Given the description of an element on the screen output the (x, y) to click on. 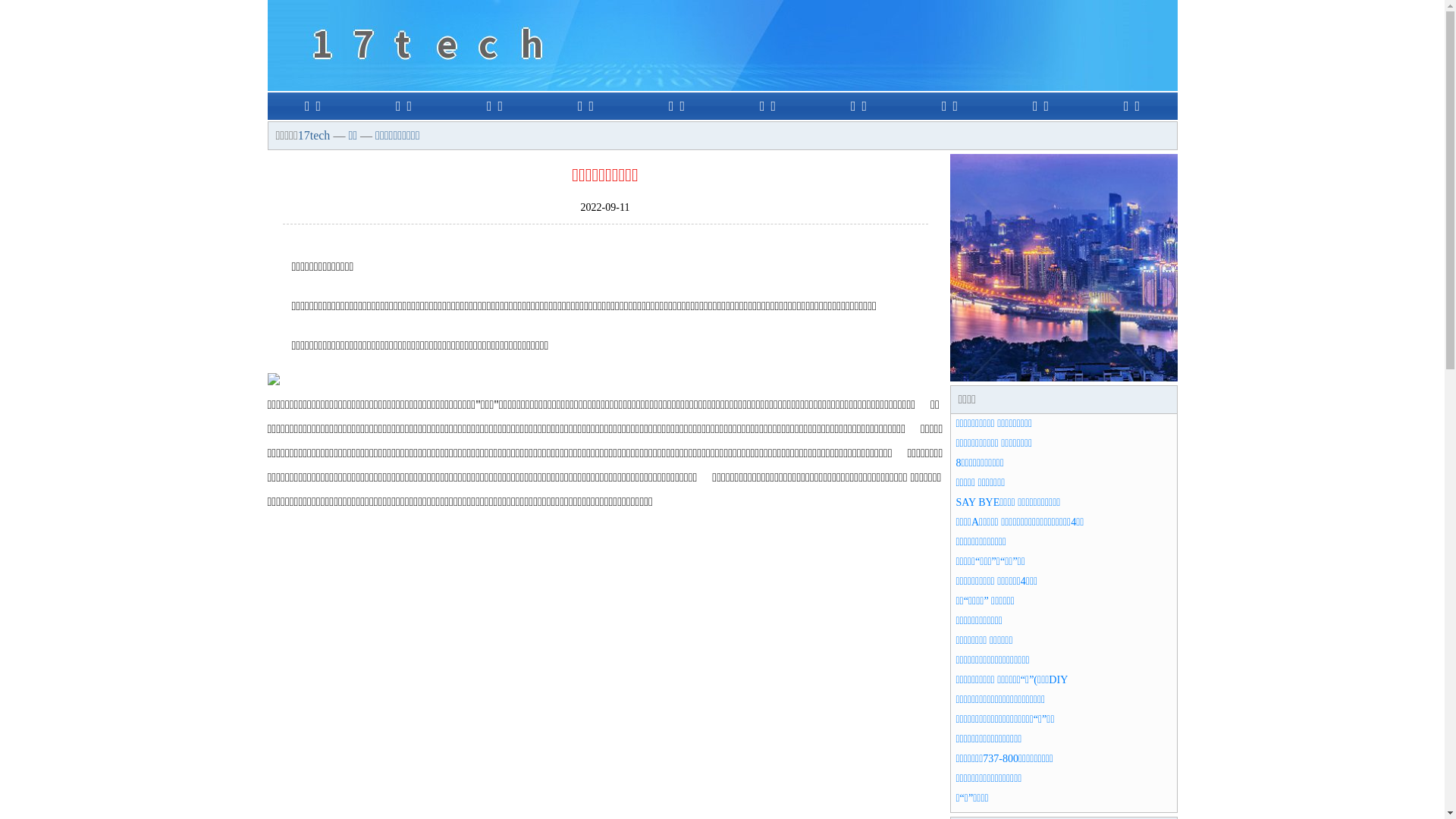
17tech Element type: text (314, 134)
